Given the description of an element on the screen output the (x, y) to click on. 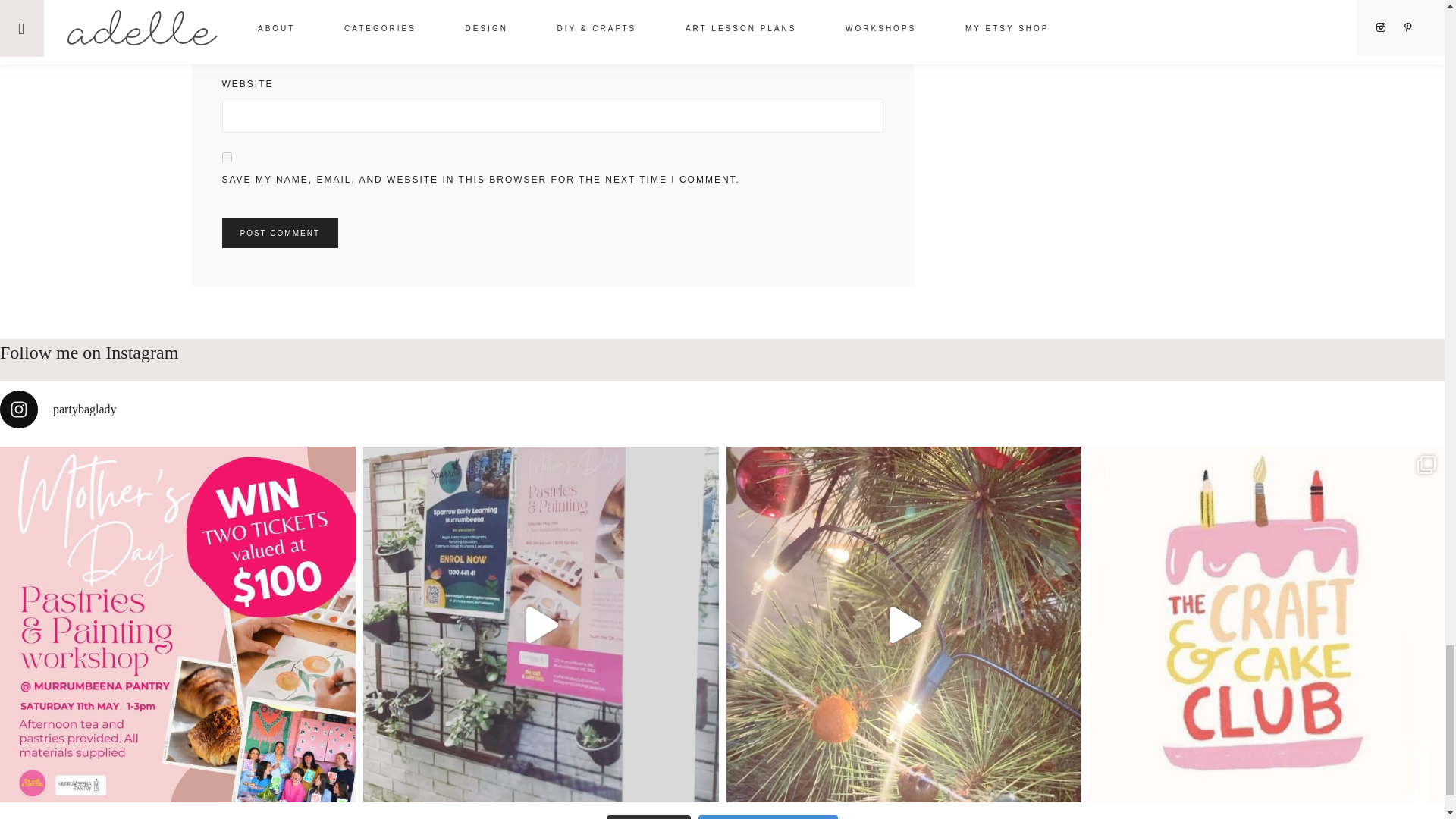
yes (226, 157)
Post Comment (279, 233)
Post Comment (279, 233)
